Given the description of an element on the screen output the (x, y) to click on. 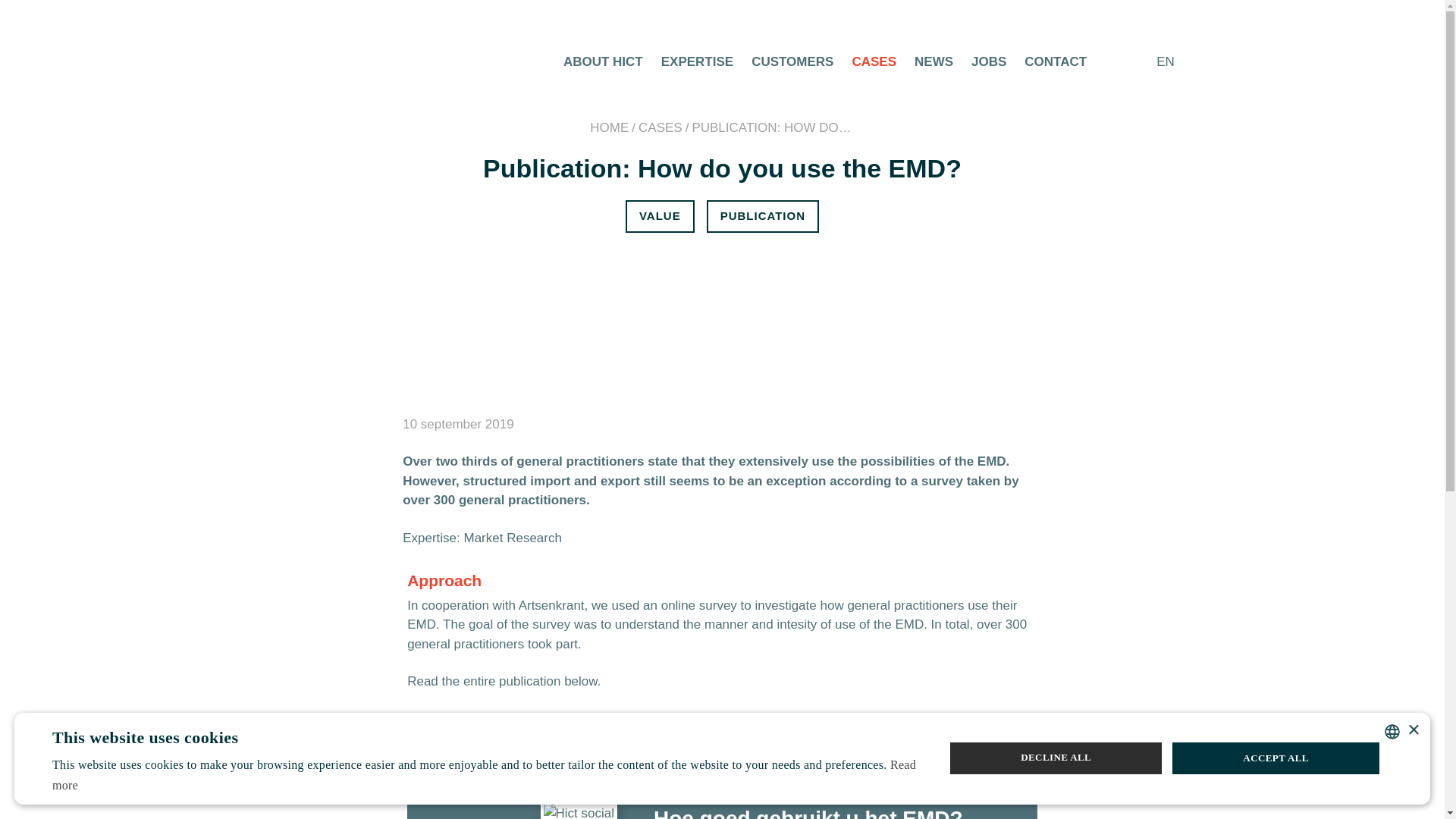
Value (660, 215)
EN (1172, 61)
CASES (660, 127)
Publication (762, 215)
NEWS (933, 61)
CONTACT (1055, 61)
JOBS (988, 61)
ABOUT HICT (603, 61)
CASES (873, 61)
PUBLICATION (762, 215)
HOME (608, 127)
CUSTOMERS (791, 61)
VALUE (660, 215)
EXPERTISE (697, 61)
